Given the description of an element on the screen output the (x, y) to click on. 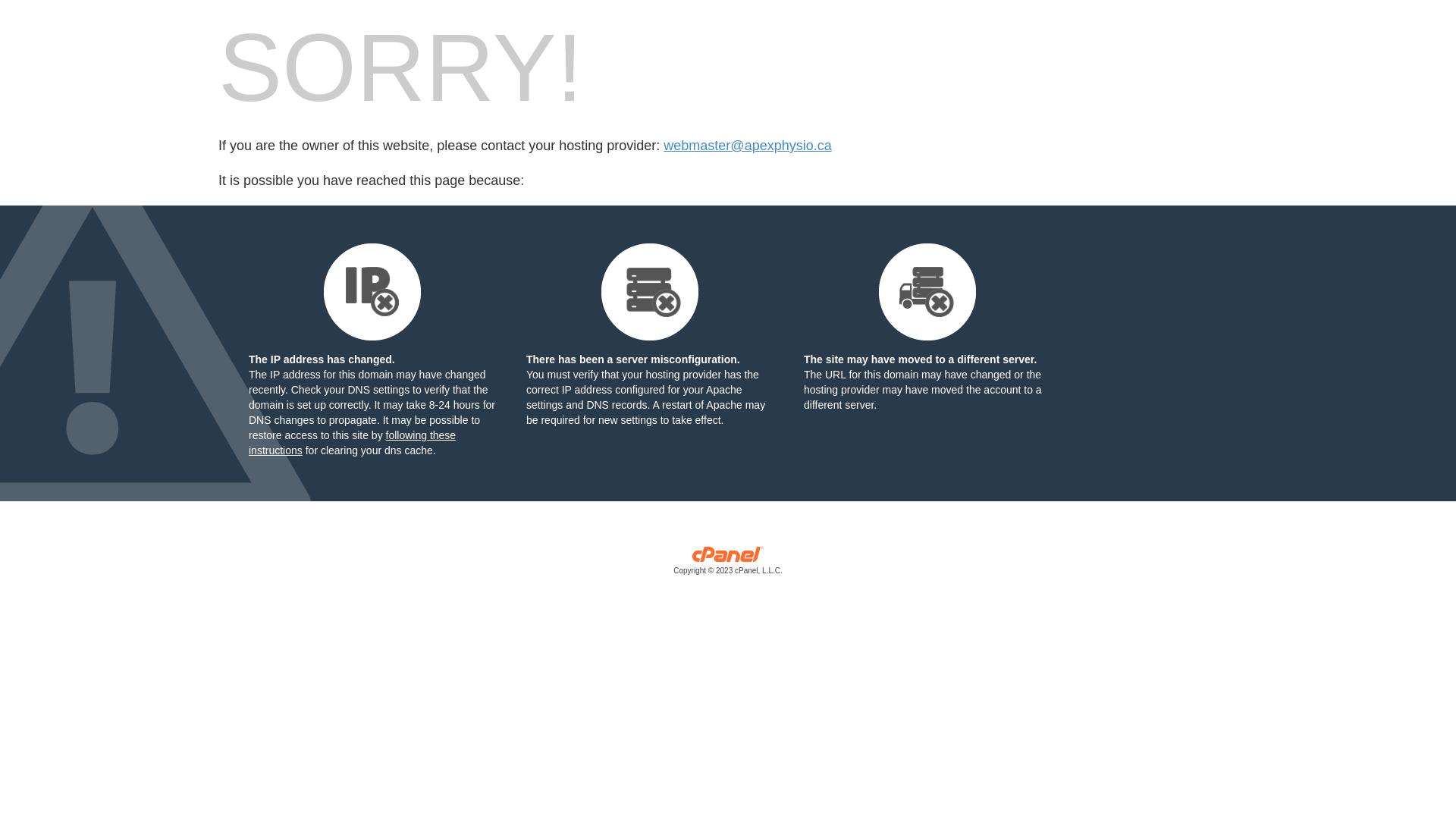
webmaster@apexphysio.ca Element type: text (747, 145)
following these instructions Element type: text (351, 442)
